Given the description of an element on the screen output the (x, y) to click on. 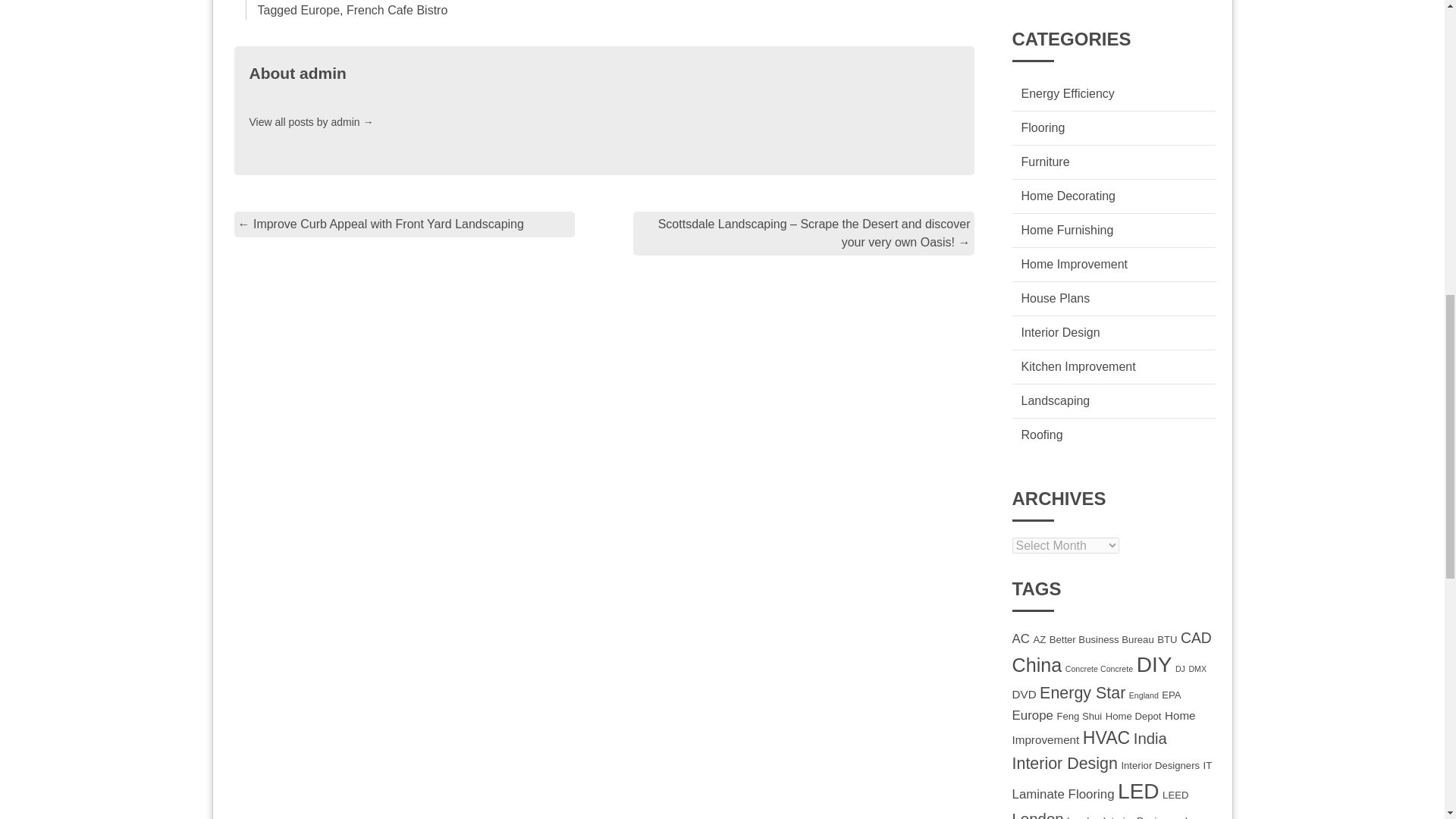
Energy Efficiency (1066, 92)
Europe (319, 10)
Home Decorating (1067, 195)
Roofing (1041, 434)
House Plans (1054, 297)
AC (1020, 638)
French Cafe Bistro (396, 10)
AZ (1038, 639)
Landscaping (1054, 400)
Home Furnishing (1066, 229)
